Given the description of an element on the screen output the (x, y) to click on. 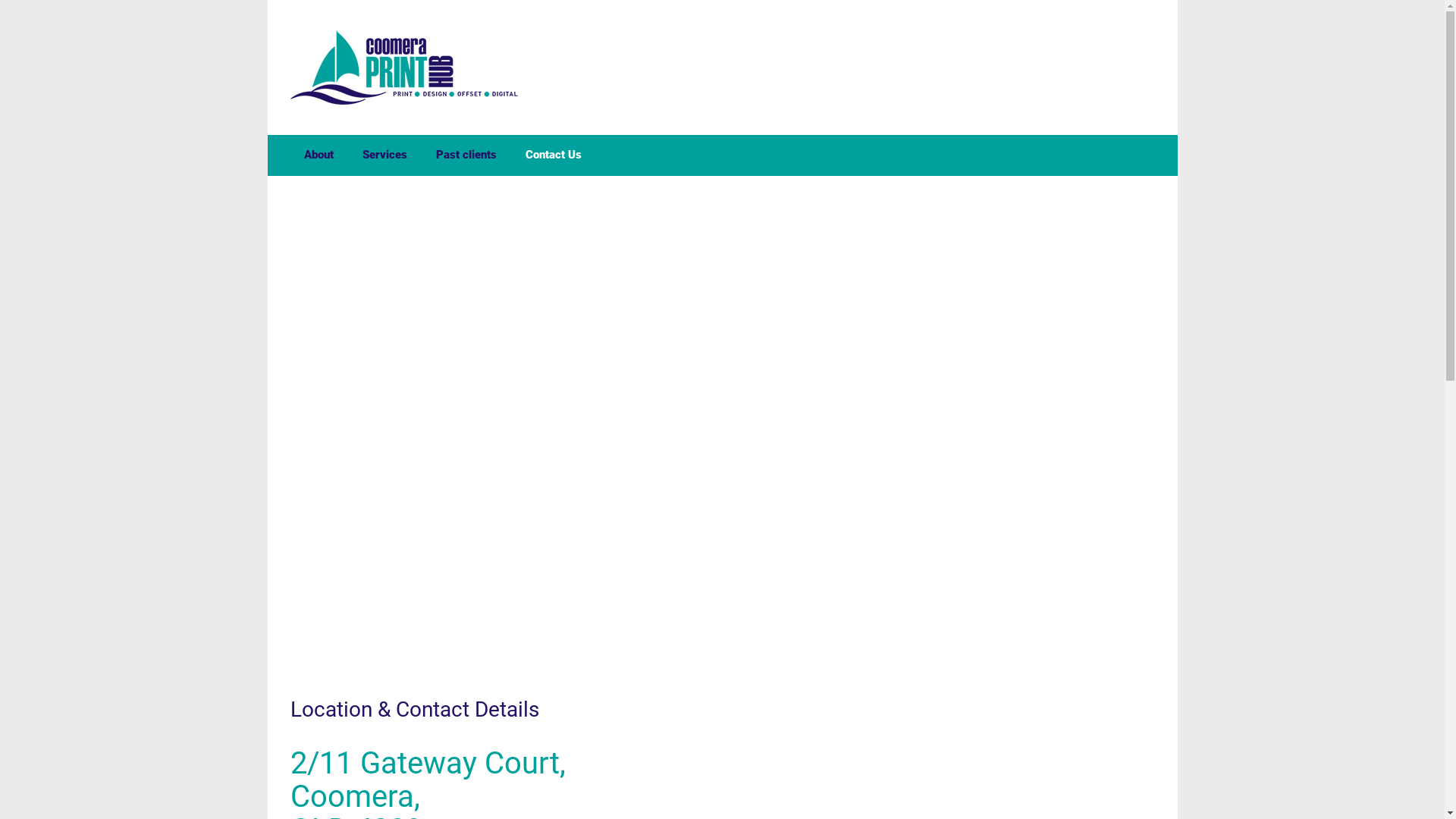
About Element type: text (318, 154)
Past clients Element type: text (466, 154)
Contact Us Element type: text (553, 154)
Services Element type: text (385, 154)
